Given the description of an element on the screen output the (x, y) to click on. 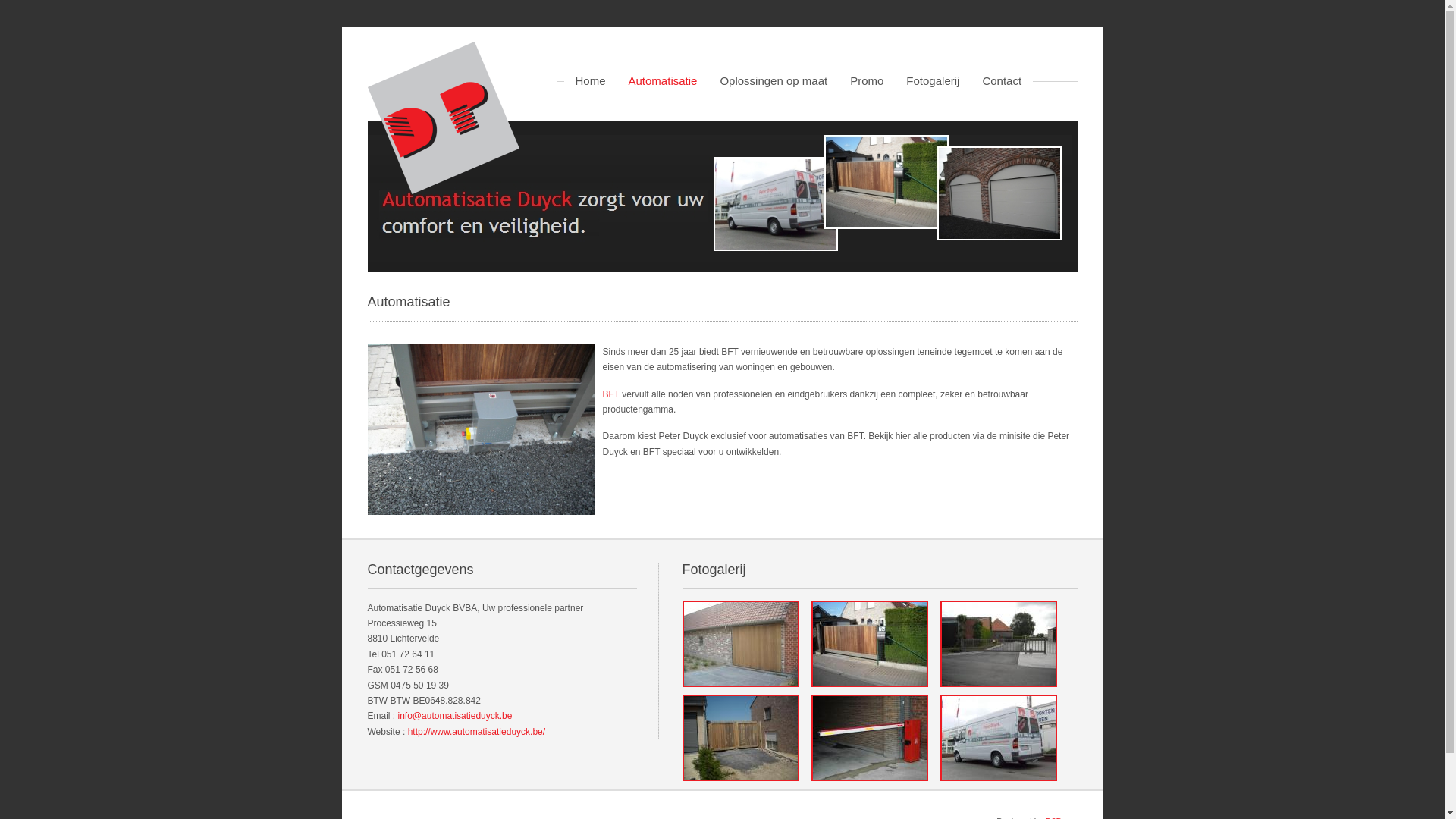
Oplossingen op maat Element type: text (773, 81)
Contact Element type: text (1001, 81)
Promo Element type: text (866, 81)
info@automatisatieduyck.be Element type: text (455, 715)
Automatisatie Element type: text (663, 81)
Home Element type: text (590, 81)
Fotogalerij Element type: text (932, 81)
http://www.automatisatieduyck.be/ Element type: text (476, 731)
BFT Element type: text (611, 394)
